Given the description of an element on the screen output the (x, y) to click on. 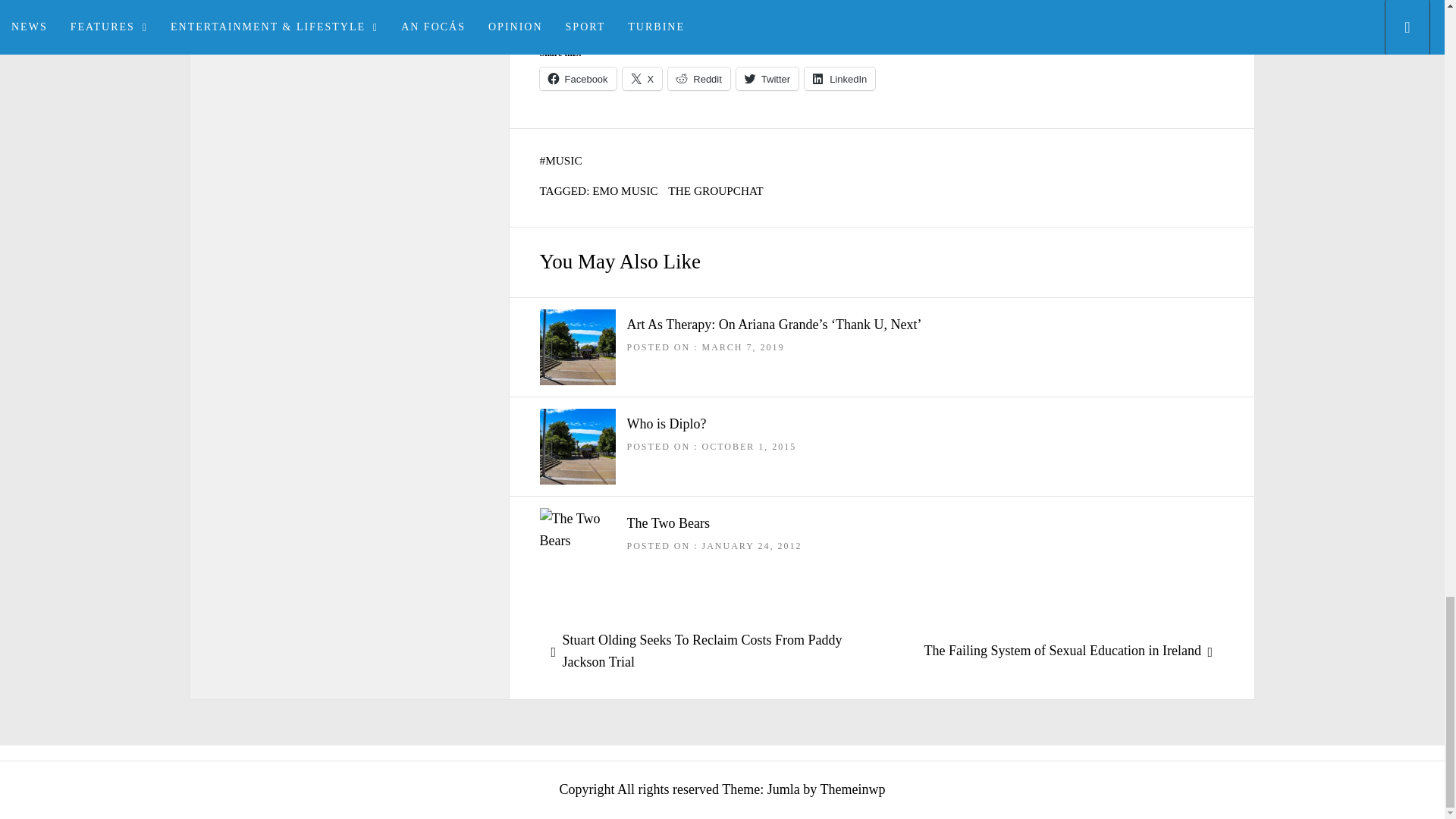
Click to share on LinkedIn (840, 78)
Facebook (577, 78)
Twitter (766, 78)
Click to share on X (642, 78)
Click to share on Facebook (577, 78)
LinkedIn (840, 78)
Click to share on Twitter (766, 78)
X (642, 78)
Reddit (699, 78)
Click to share on Reddit (699, 78)
